Given the description of an element on the screen output the (x, y) to click on. 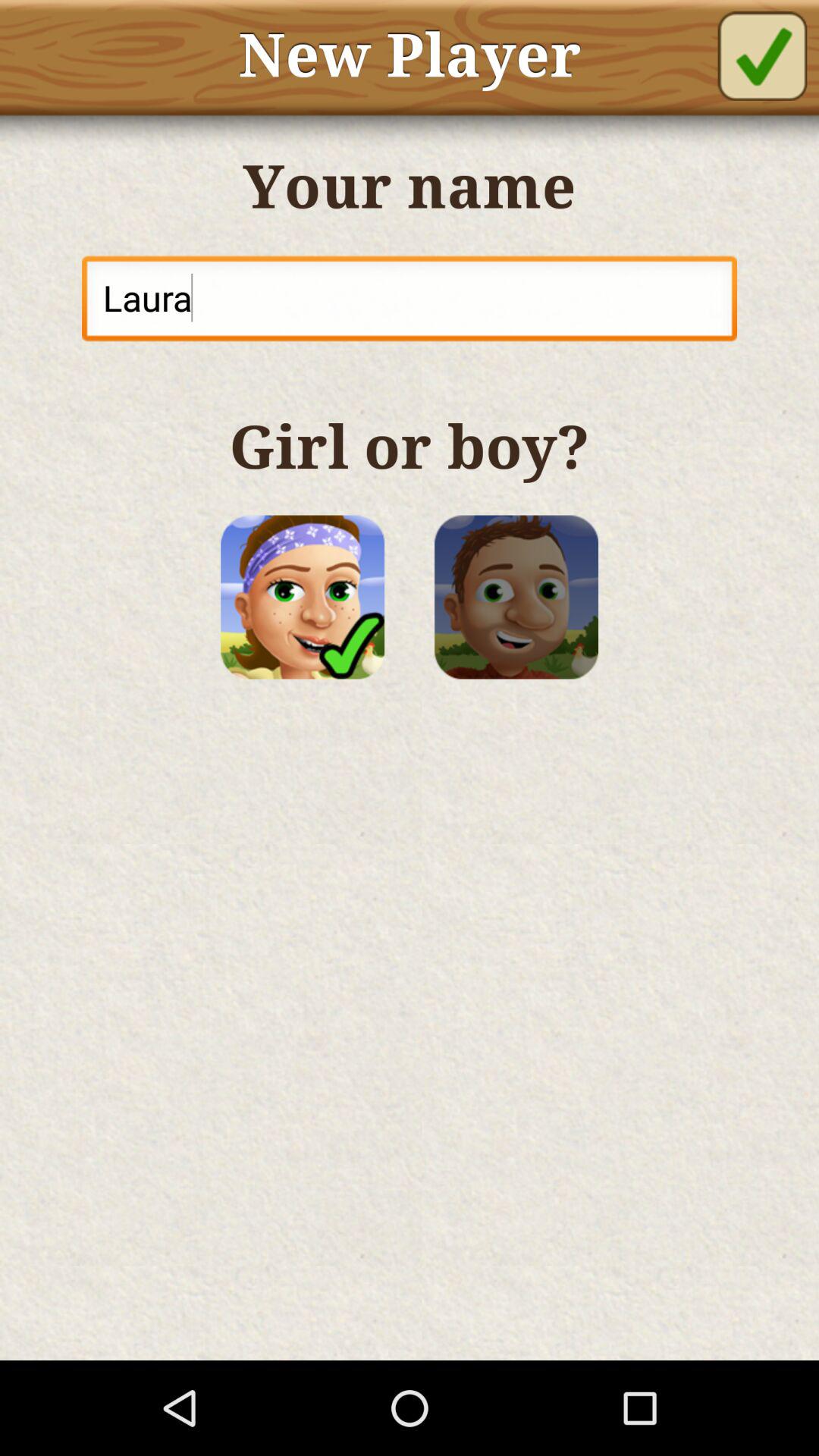
new player on (762, 55)
